Given the description of an element on the screen output the (x, y) to click on. 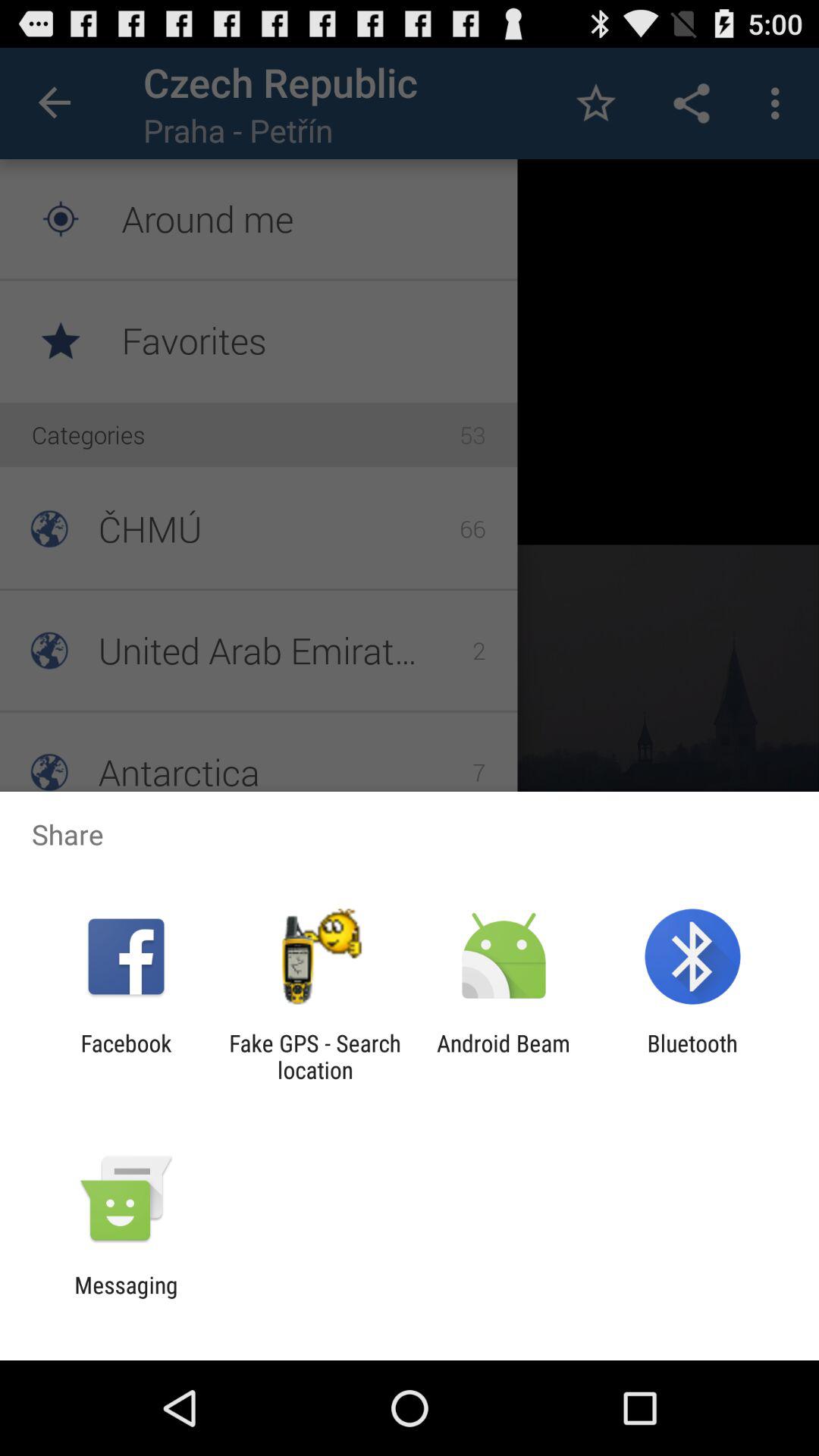
launch the item to the right of android beam item (692, 1056)
